Given the description of an element on the screen output the (x, y) to click on. 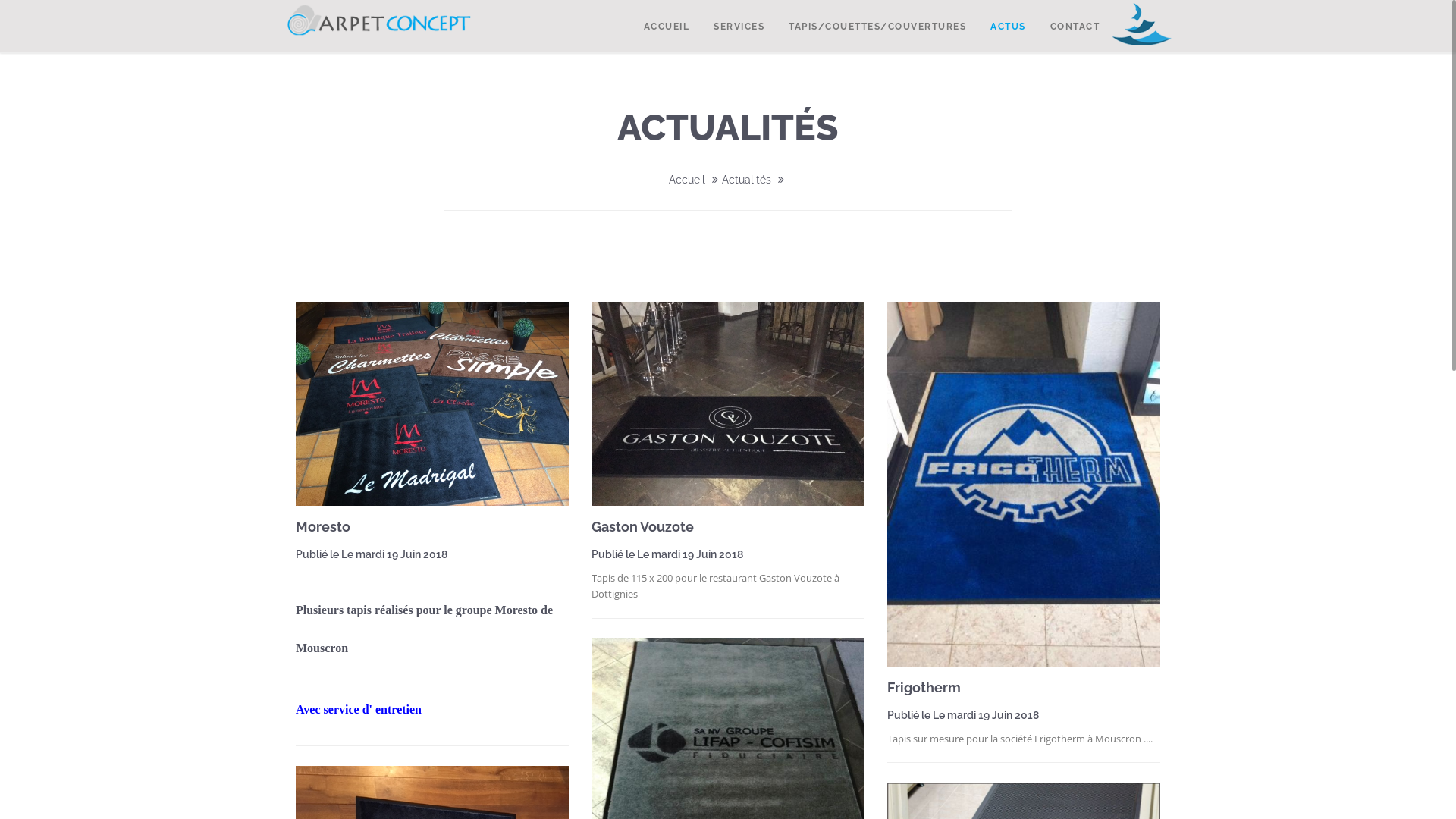
ACCUEIL Element type: text (665, 26)
Accueil Element type: text (686, 179)
ACTUS Element type: text (1008, 26)
CONTACT Element type: text (1074, 26)
TAPIS/COUETTES/COUVERTURES Element type: text (877, 26)
Moresto Element type: text (322, 526)
SERVICES Element type: text (738, 26)
Frigotherm Element type: text (923, 687)
Gaston Vouzote Element type: text (642, 526)
